Given the description of an element on the screen output the (x, y) to click on. 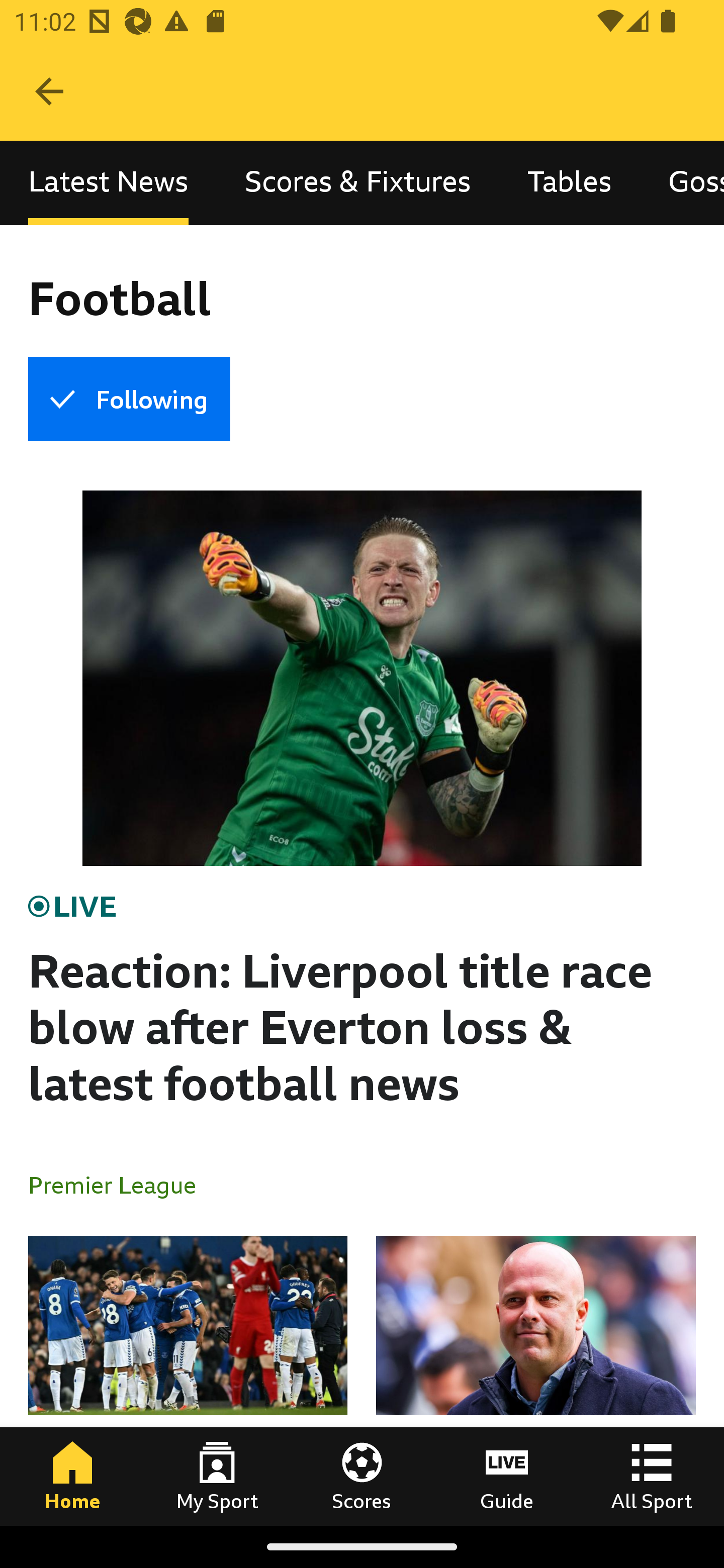
Navigate up (49, 91)
Latest News, selected Latest News (108, 183)
Scores & Fixtures (357, 183)
Tables (569, 183)
Following Football Following (129, 398)
Premier League In the section Premier League (119, 1184)
Slot philosophy could suit Liverpool - Van Dijk (535, 1380)
My Sport (216, 1475)
Scores (361, 1475)
Guide (506, 1475)
All Sport (651, 1475)
